Given the description of an element on the screen output the (x, y) to click on. 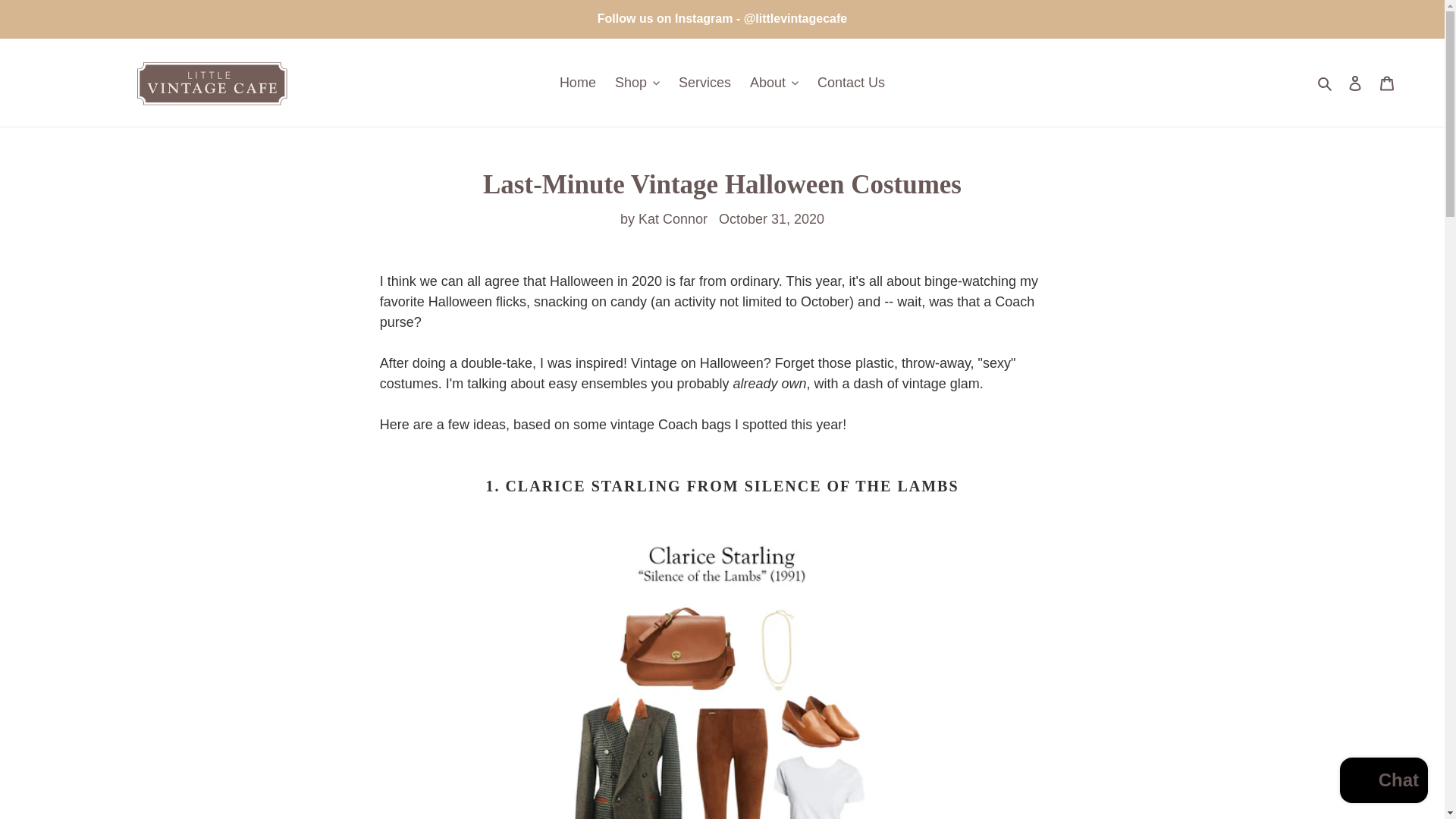
Contact Us (850, 82)
Search (1326, 82)
Log in (1355, 82)
Shopify online store chat (1383, 781)
Shop (636, 82)
Home (577, 82)
Services (704, 82)
Cart (1387, 82)
About (774, 82)
